Given the description of an element on the screen output the (x, y) to click on. 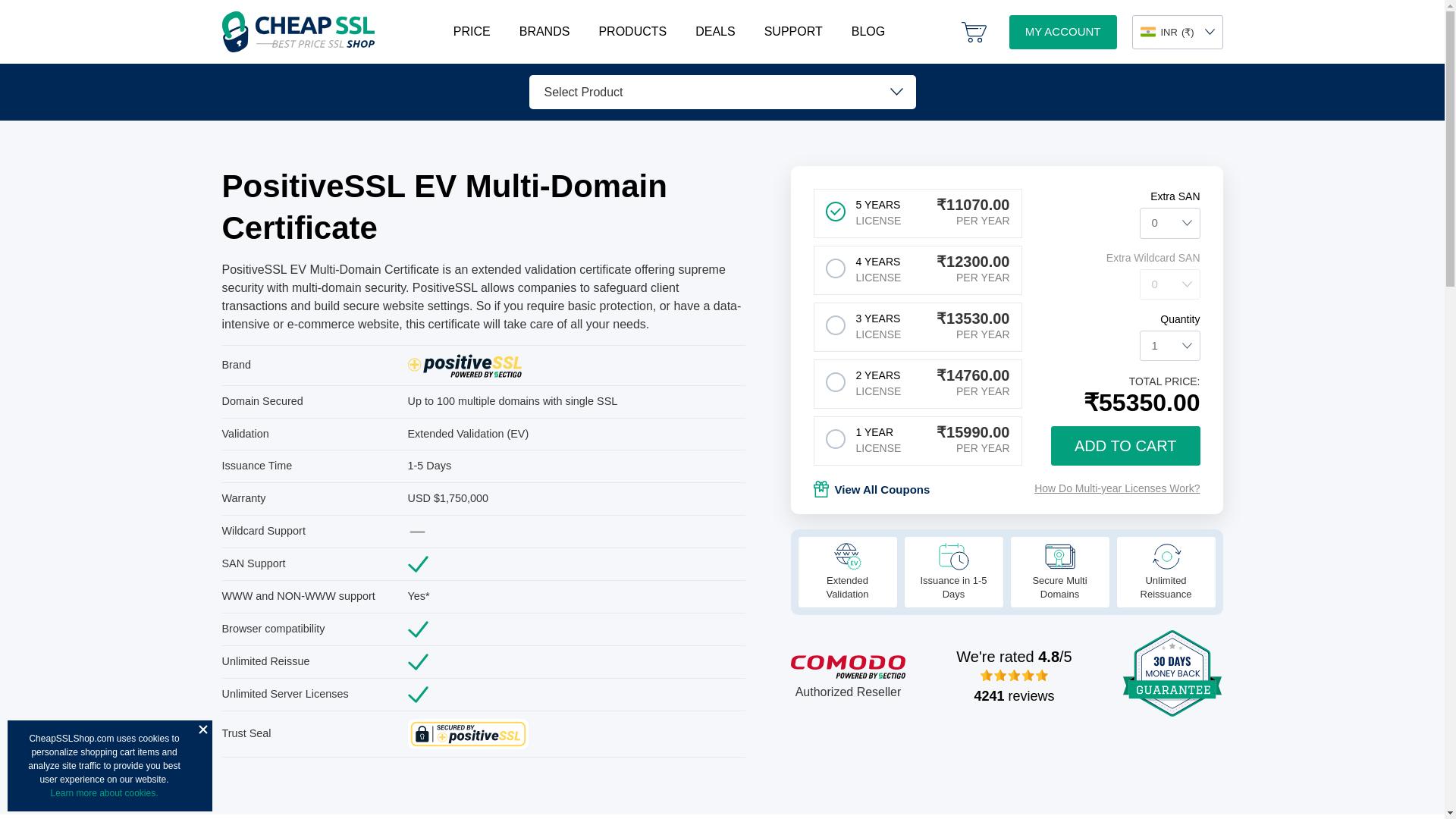
SUPPORT (793, 31)
BRANDS (544, 31)
PRODUCTS (632, 31)
MY ACCOUNT (1062, 32)
SSL Brands (544, 31)
